Given the description of an element on the screen output the (x, y) to click on. 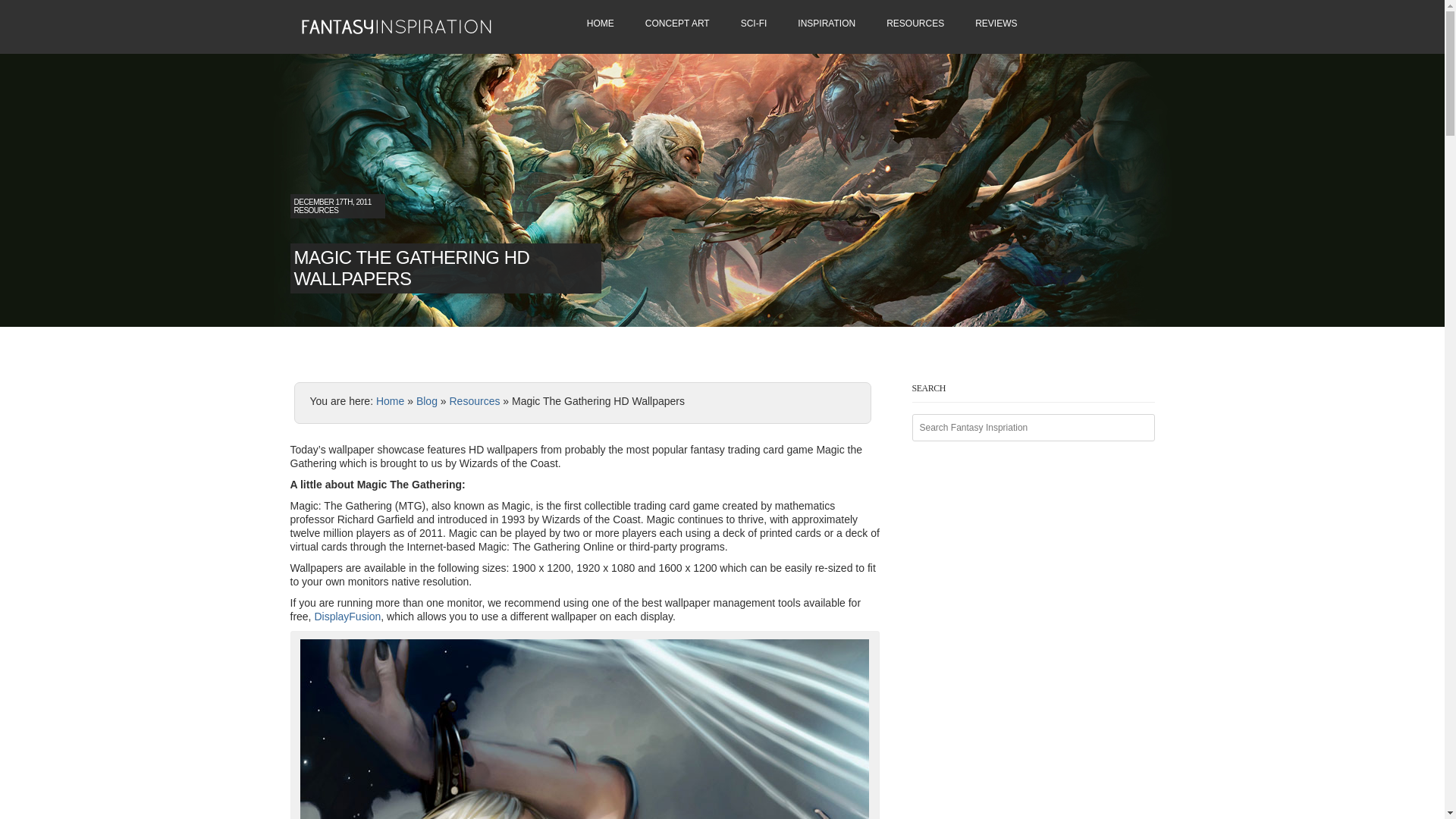
DisplayFusion (347, 616)
Resources (473, 400)
Advertisement (467, 362)
INSPIRATION (826, 25)
HOME (600, 25)
SCI-FI (754, 25)
CONCEPT ART (677, 25)
Magic The Gathering HD Wallpapers (584, 729)
Search Fantasy Inspriation (1032, 427)
Home (389, 400)
REVIEWS (995, 25)
RESOURCES (914, 25)
RESOURCES (316, 210)
Blog (427, 400)
